Given the description of an element on the screen output the (x, y) to click on. 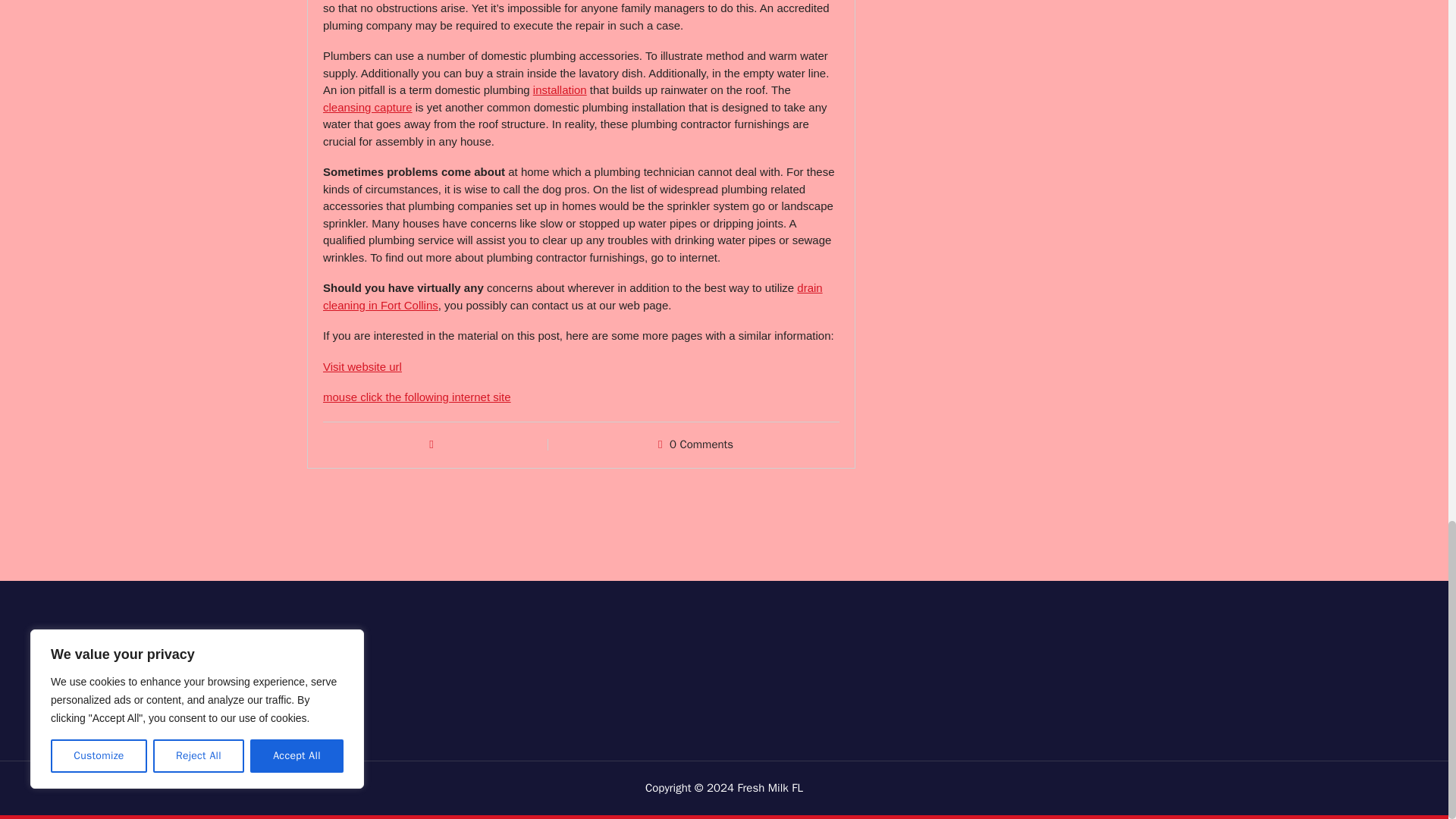
installation (559, 89)
Visit website url (362, 366)
drain cleaning in Fort Collins (572, 296)
cleansing capture (367, 106)
mouse click the following internet site (417, 396)
